Given the description of an element on the screen output the (x, y) to click on. 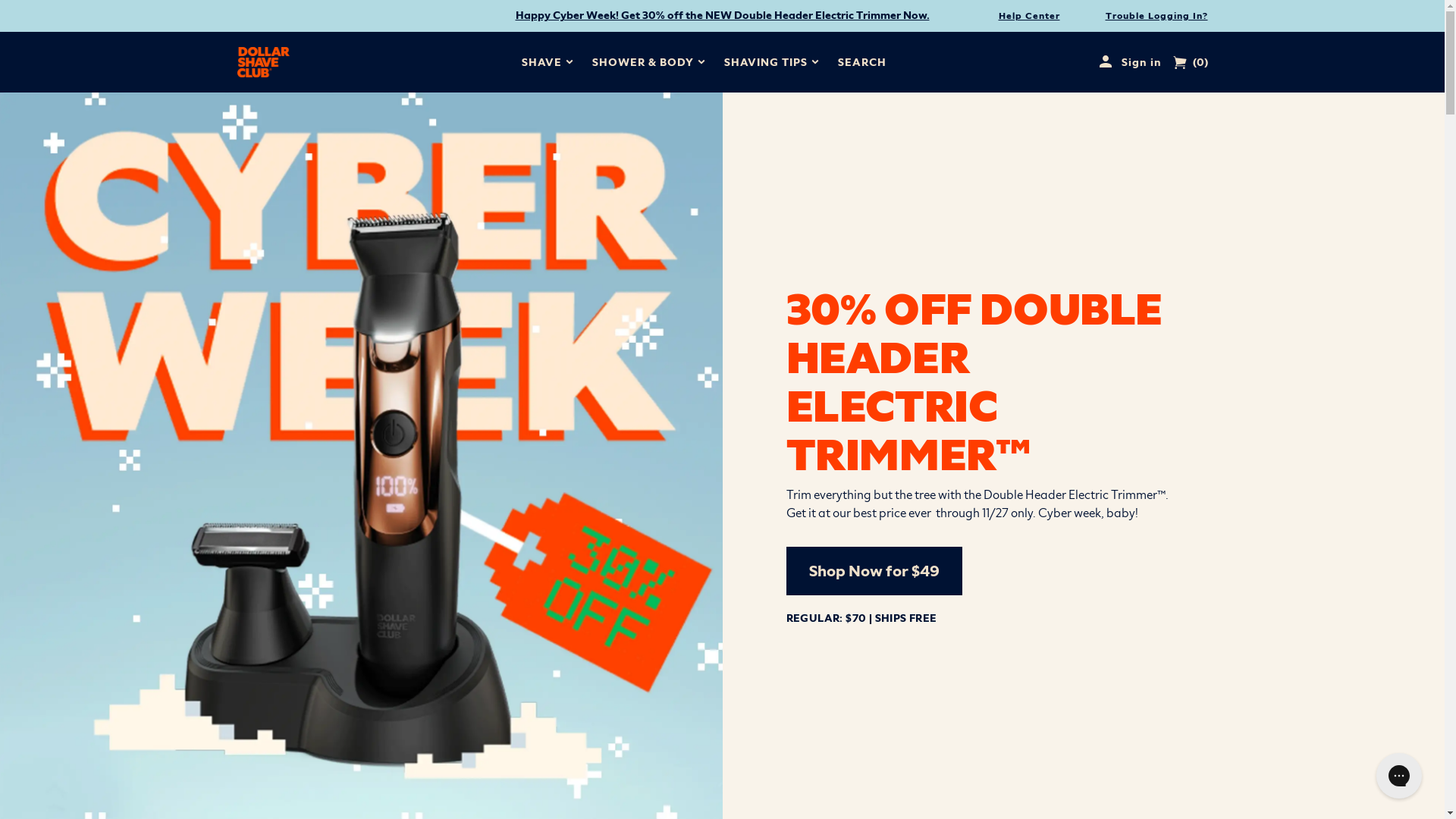
SHAVE Element type: text (541, 61)
Shop Now for $49 Element type: text (873, 570)
Help Center Element type: text (1028, 15)
Sign in Element type: text (1134, 61)
(0) Element type: text (1189, 61)
SHAVING TIPS Element type: text (765, 61)
Gorgias live chat messenger Element type: hover (1398, 775)
SHOWER & BODY Element type: text (642, 61)
SEARCH Element type: text (861, 61)
Trouble Logging In? Element type: text (1156, 15)
